Given the description of an element on the screen output the (x, y) to click on. 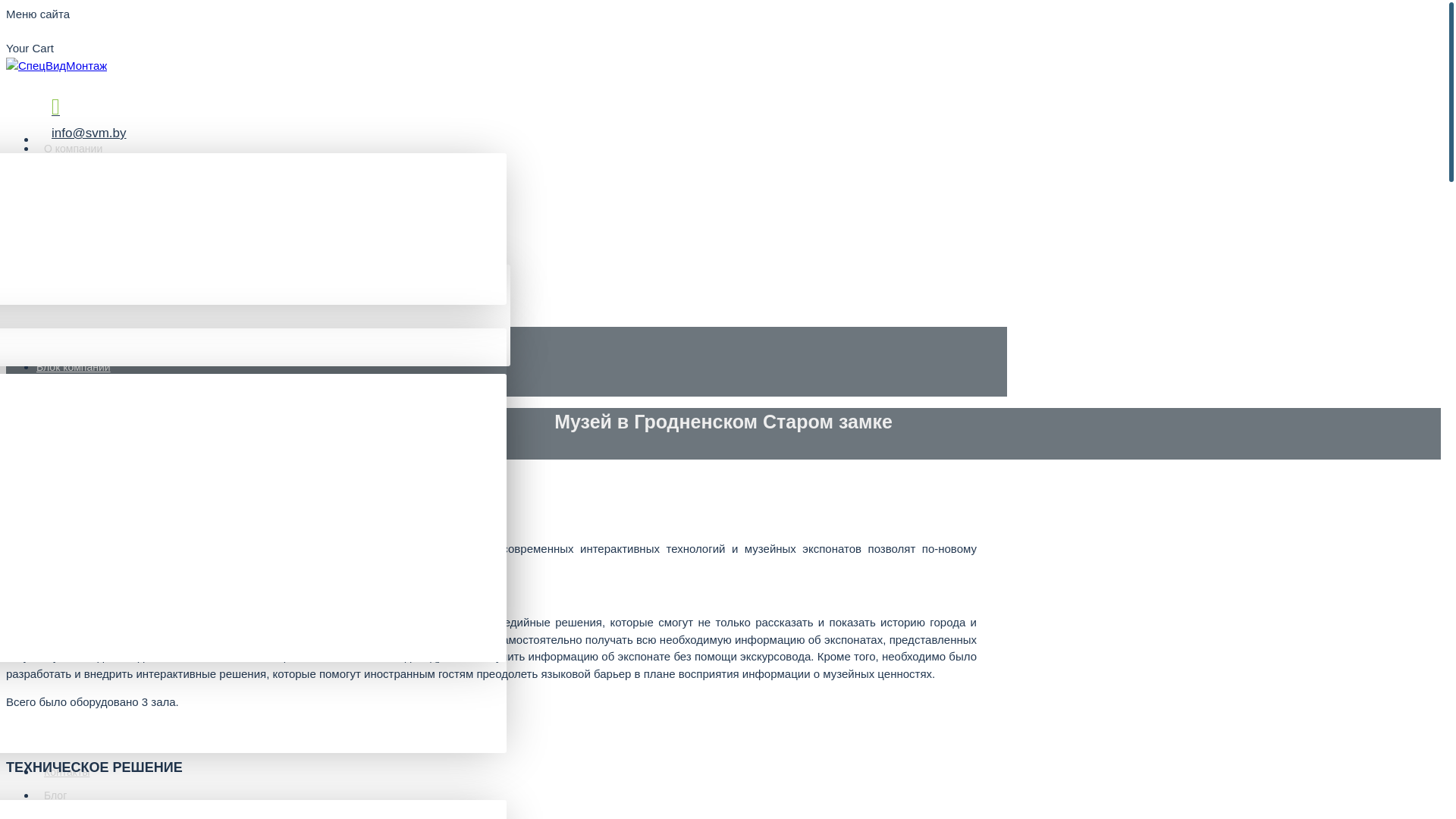
info@svm.by Element type: text (83, 116)
Menu Element type: text (24, 280)
